Given the description of an element on the screen output the (x, y) to click on. 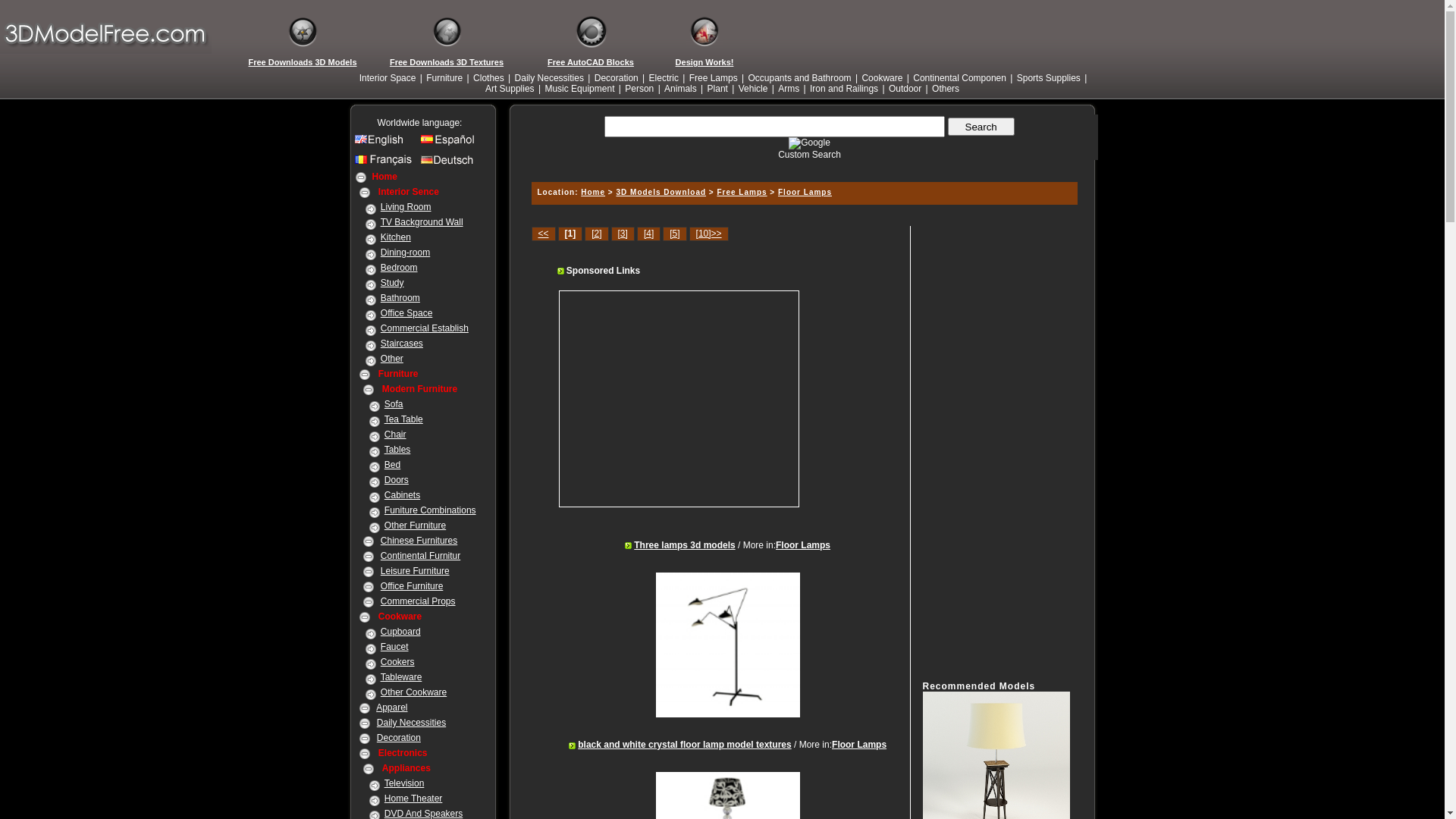
Advertisement Element type: hover (802, 165)
Cookware Element type: text (881, 77)
Sofa Element type: text (393, 403)
[4] Element type: text (648, 233)
Cookers Element type: text (397, 661)
Cookware Element type: text (399, 616)
Home Element type: text (592, 192)
Furniture Element type: text (444, 77)
Leisure Furniture Element type: text (414, 570)
Other Furniture Element type: text (414, 525)
Dining-room Element type: text (404, 252)
Free AutoCAD Blocks Element type: text (590, 61)
Daily Necessities Element type: text (549, 77)
Germany site Element type: hover (450, 163)
Cupboard Element type: text (400, 631)
Chair Element type: text (395, 434)
Commercial Props Element type: text (417, 601)
Plant Element type: text (717, 88)
<< Element type: text (542, 233)
Free Lamps Element type: text (741, 192)
Faucet Element type: text (394, 646)
Iron and Railings Element type: text (843, 88)
[2] Element type: text (596, 233)
Vehicle Element type: text (753, 88)
Others Element type: text (945, 88)
Advertisement Element type: hover (982, 452)
Office Furniture Element type: text (411, 585)
Apparel Element type: text (391, 707)
Art Supplies Element type: text (509, 88)
Cabinets Element type: text (402, 494)
Commercial Establish Element type: text (424, 328)
Free Downloads 3D Textures Element type: text (446, 61)
Sports Supplies Element type: text (1048, 77)
Interior Sence Element type: text (408, 191)
Bed Element type: text (392, 464)
Music Equipment Element type: text (578, 88)
Electronics Element type: text (402, 752)
Outdoor Element type: text (904, 88)
Design Works! Element type: text (703, 61)
Clothes Element type: text (488, 77)
Floor Lamps Element type: text (858, 744)
Other Element type: text (391, 358)
Tea Table Element type: text (403, 419)
Electric Element type: text (663, 77)
Interior Space Element type: text (387, 77)
Bedroom Element type: text (398, 267)
Other Cookware Element type: text (413, 692)
Decoration Element type: text (616, 77)
Spanish site Element type: hover (450, 143)
Occupants and Bathroom Element type: text (799, 77)
Tables Element type: text (397, 449)
Advertisement Element type: hover (688, 398)
Furniture Element type: text (398, 373)
Bathroom Element type: text (400, 297)
[3] Element type: text (622, 233)
Staircases Element type: text (401, 343)
[10]>> Element type: text (708, 233)
Three lamps 3d models Element type: text (683, 544)
Home Theater Element type: text (413, 798)
3D Models Download Element type: text (660, 192)
Decoration Element type: text (398, 737)
Floor Lamps Element type: text (804, 192)
Continental Componen Element type: text (959, 77)
France site Element type: hover (384, 163)
Continental Furnitur Element type: text (420, 555)
    Search     Element type: text (980, 126)
Study Element type: text (392, 282)
black and white crystal floor lamp model textures Element type: text (683, 744)
Doors Element type: text (396, 479)
Modern Furniture Element type: text (419, 388)
Home Element type: text (384, 176)
Free Downloads 3D Models Element type: text (302, 61)
Floor Lamps Element type: text (802, 544)
Living Room Element type: text (405, 206)
English site Element type: hover (384, 143)
Daily Necessities Element type: text (410, 722)
[5] Element type: text (674, 233)
TV Background Wall Element type: text (421, 221)
Person Element type: text (639, 88)
Funiture Combinations Element type: text (430, 510)
Free Lamps Element type: text (713, 77)
Television Element type: text (404, 783)
Animals Element type: text (680, 88)
Appliances Element type: text (406, 768)
Tableware Element type: text (401, 676)
Office Space Element type: text (406, 312)
Arms Element type: text (788, 88)
Kitchen Element type: text (395, 237)
Chinese Furnitures Element type: text (418, 540)
